Given the description of an element on the screen output the (x, y) to click on. 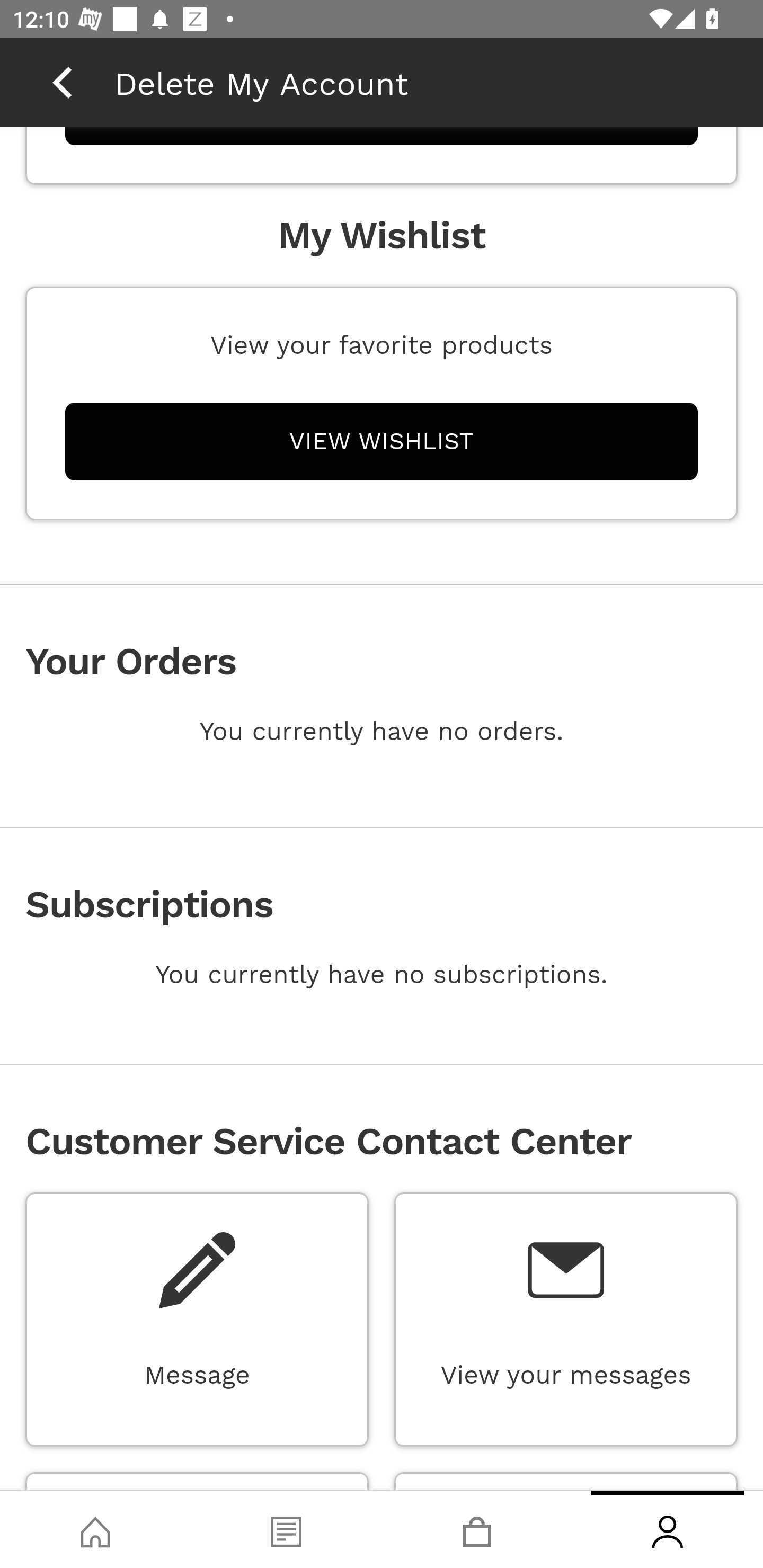
back (61, 82)
View your favorite products (381, 345)
VIEW WISHLIST (381, 441)
Message (196, 1269)
View your messages (565, 1269)
Shop, tab, 1 of 4 (95, 1529)
Blog, tab, 2 of 4 (285, 1529)
Basket, tab, 3 of 4 (476, 1529)
Account, tab, 4 of 4 (667, 1529)
